Given the description of an element on the screen output the (x, y) to click on. 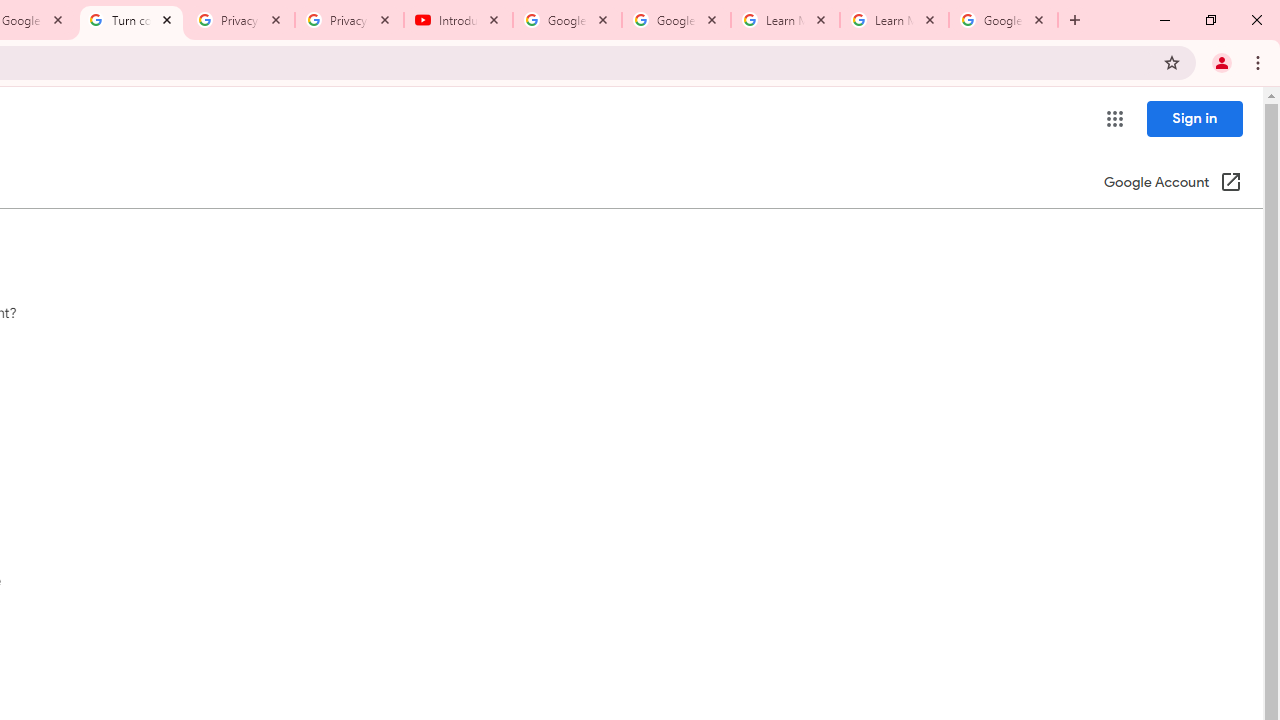
Google Account Help (567, 20)
Google Account (1003, 20)
Turn cookies on or off - Computer - Google Account Help (130, 20)
Google Account (Open in a new window) (1172, 183)
Google Account Help (676, 20)
